Given the description of an element on the screen output the (x, y) to click on. 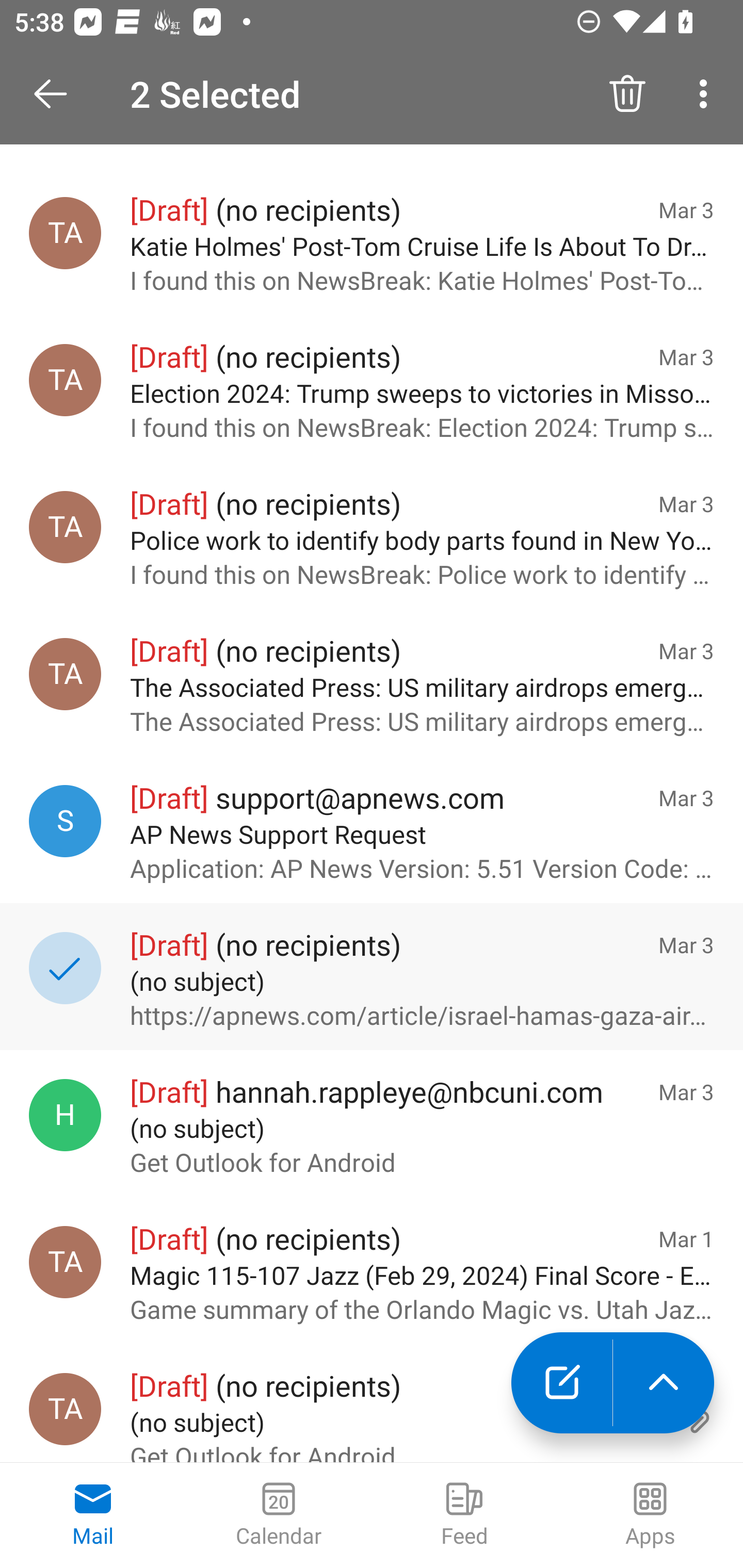
Delete (626, 93)
More options (706, 93)
Open Navigation Drawer (57, 94)
Test Appium, testappium002@outlook.com (64, 233)
Test Appium, testappium002@outlook.com (64, 379)
Test Appium, testappium002@outlook.com (64, 526)
Test Appium, testappium002@outlook.com (64, 674)
support@apnews.com (64, 821)
hannah.rappleye@nbcuni.com (64, 1114)
Test Appium, testappium002@outlook.com (64, 1262)
New mail (561, 1382)
launch the extended action menu (663, 1382)
Test Appium, testappium002@outlook.com (64, 1409)
Calendar (278, 1515)
Feed (464, 1515)
Apps (650, 1515)
